Given the description of an element on the screen output the (x, y) to click on. 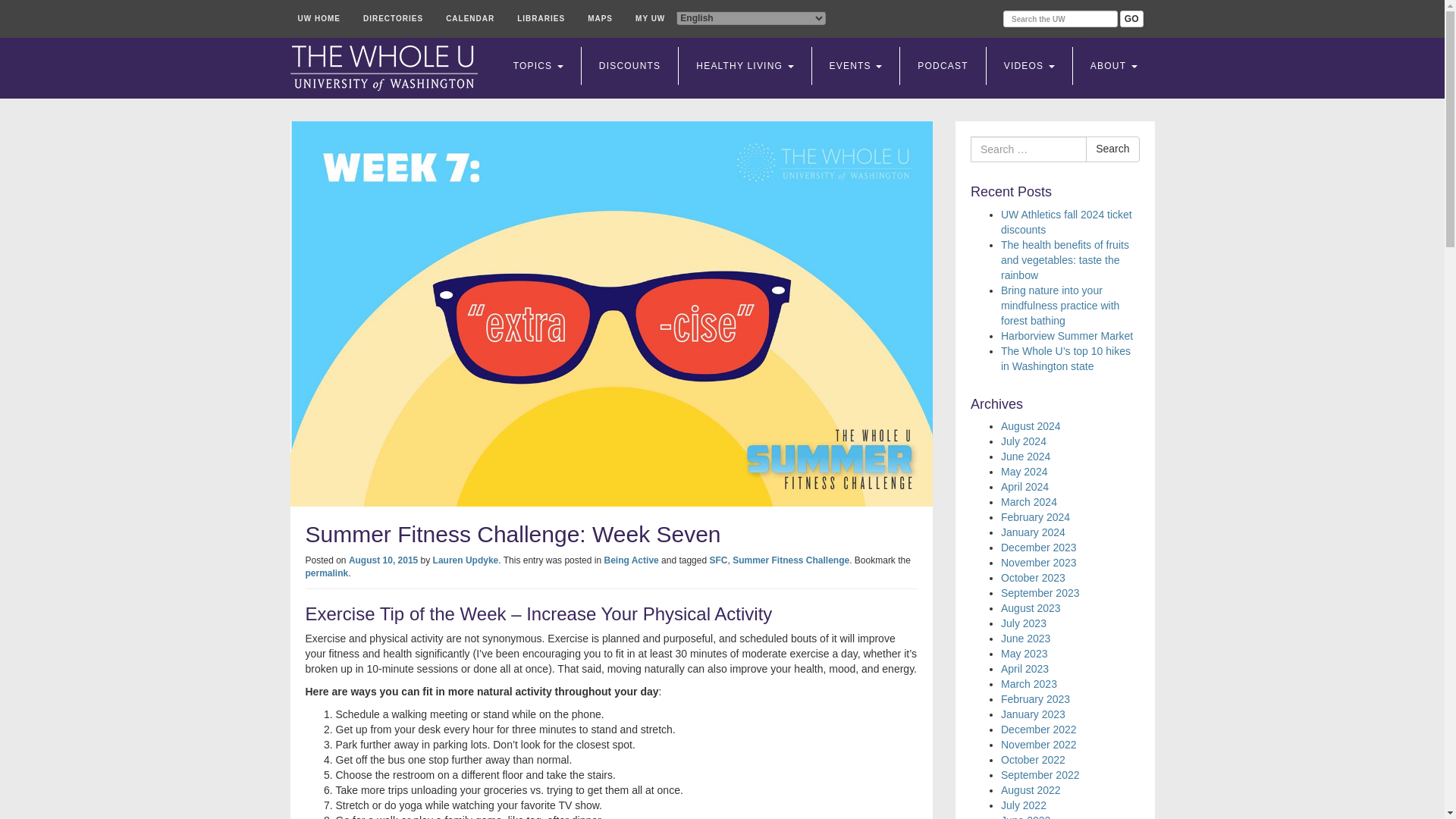
EVENTS (855, 65)
HEALTHY LIVING (744, 65)
MAPS (599, 18)
DISCOUNTS (629, 65)
GO (1130, 18)
UW HOME (318, 18)
LIBRARIES (541, 18)
DIRECTORIES (392, 18)
THE WHOLE U (383, 67)
MY UW (649, 18)
